Given the description of an element on the screen output the (x, y) to click on. 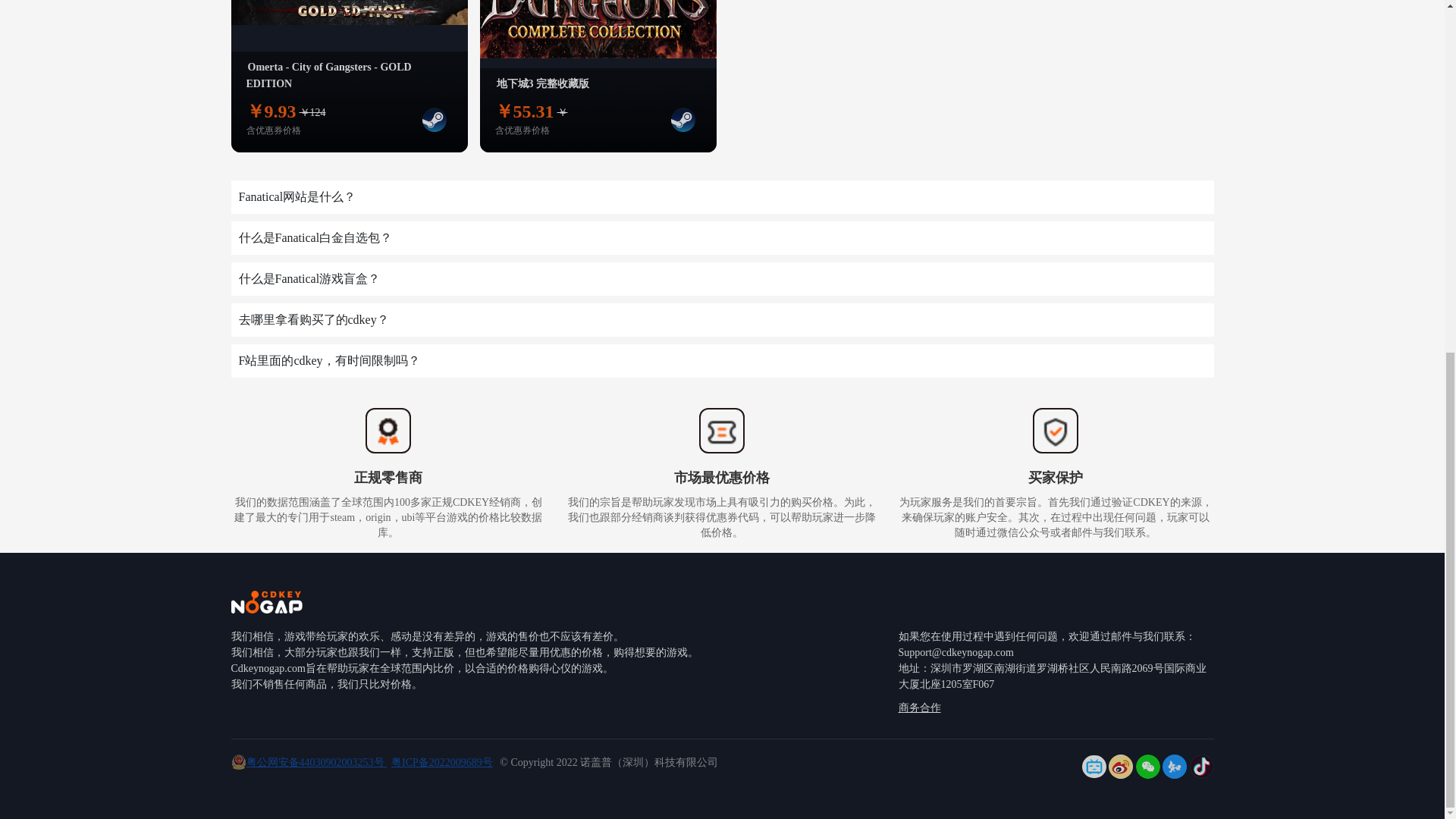
Omerta - City of Gangsters - GOLD EDITION (328, 75)
Steam (681, 119)
Steam (433, 119)
